Given the description of an element on the screen output the (x, y) to click on. 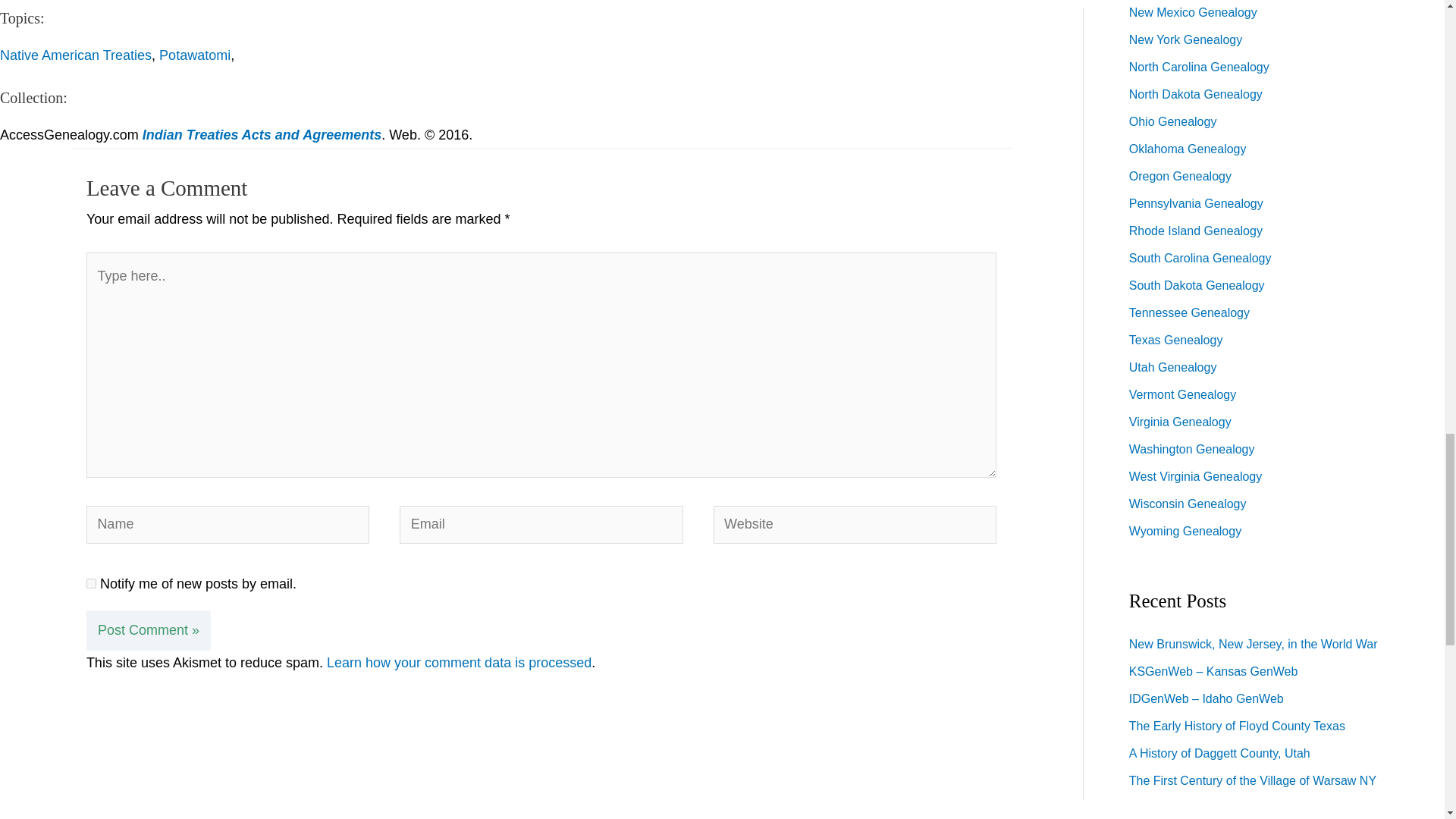
Indian Treaties Acts and Agreements (261, 134)
Learn how your comment data is processed (458, 662)
Native American Treaties (75, 55)
Potawatomi (194, 55)
subscribe (90, 583)
